Given the description of an element on the screen output the (x, y) to click on. 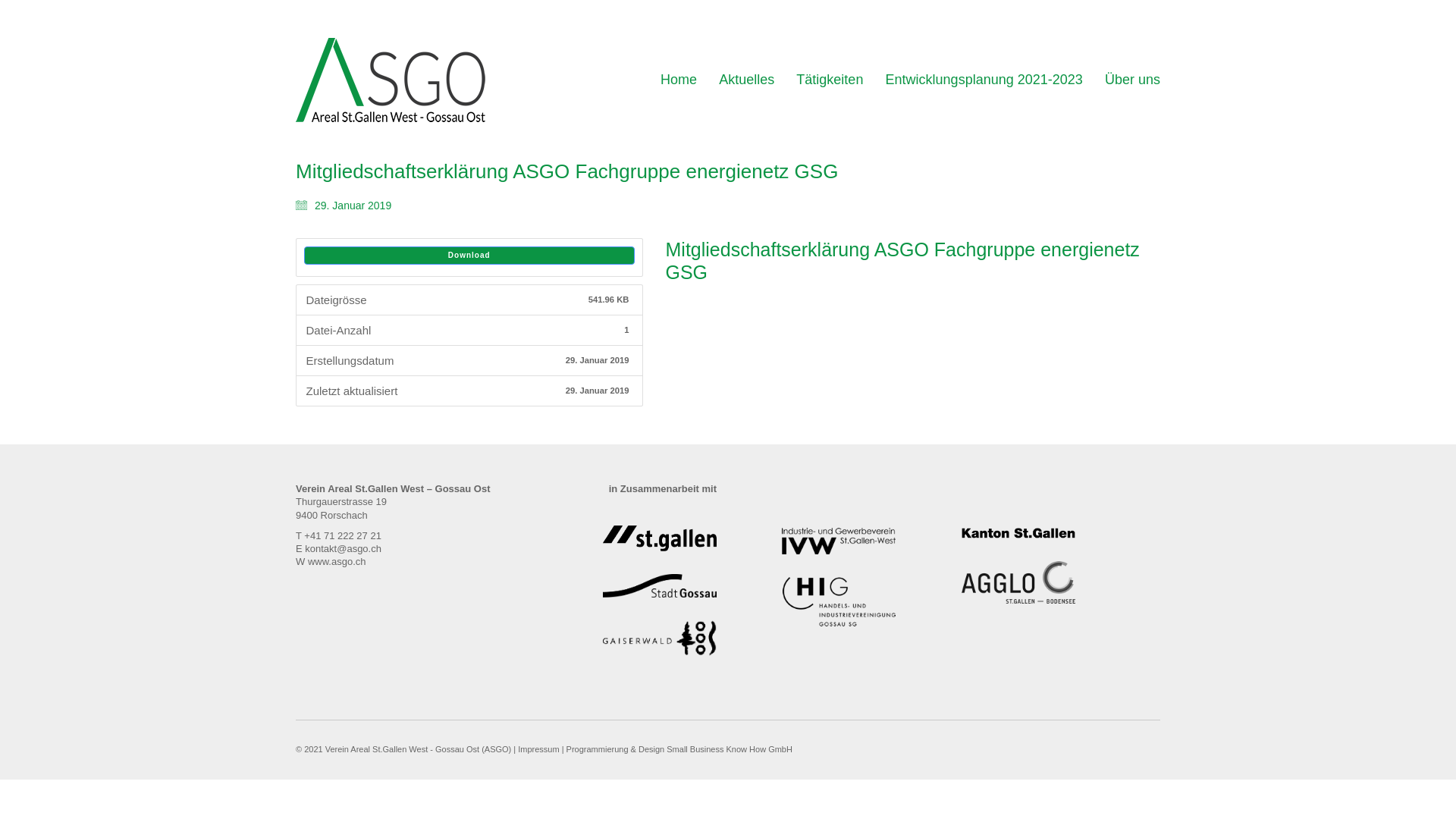
Entwicklungsplanung 2021-2023 Element type: text (983, 79)
www.asgo.ch Element type: text (336, 561)
+41 71 222 27 21 Element type: text (342, 535)
Download Element type: text (469, 255)
Small Business Know How GmbH Element type: text (729, 749)
Impressum Element type: text (537, 749)
kontakt@asgo.ch Element type: text (342, 548)
Aktuelles Element type: text (746, 79)
Home Element type: text (678, 79)
